Given the description of an element on the screen output the (x, y) to click on. 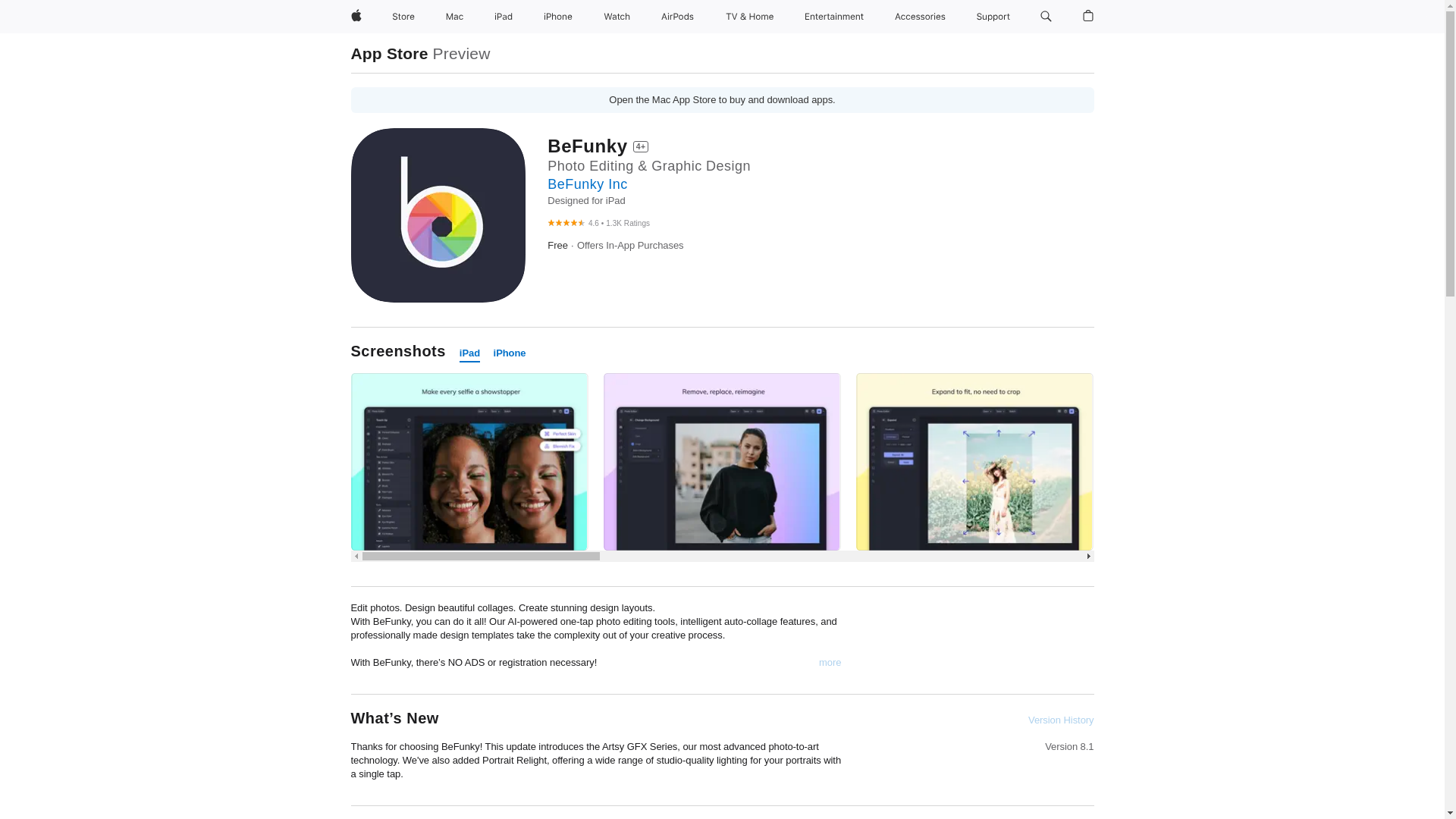
iPad (502, 16)
Mac (453, 16)
Accessories (920, 16)
Version History (1060, 720)
Watch (616, 16)
iPhone  (557, 16)
Apple (354, 16)
Support (993, 16)
BeFunky Inc (587, 183)
AirPods (677, 16)
Entertainment (834, 16)
iPad (470, 353)
more (829, 662)
Store (402, 16)
iPhone (509, 353)
